Given the description of an element on the screen output the (x, y) to click on. 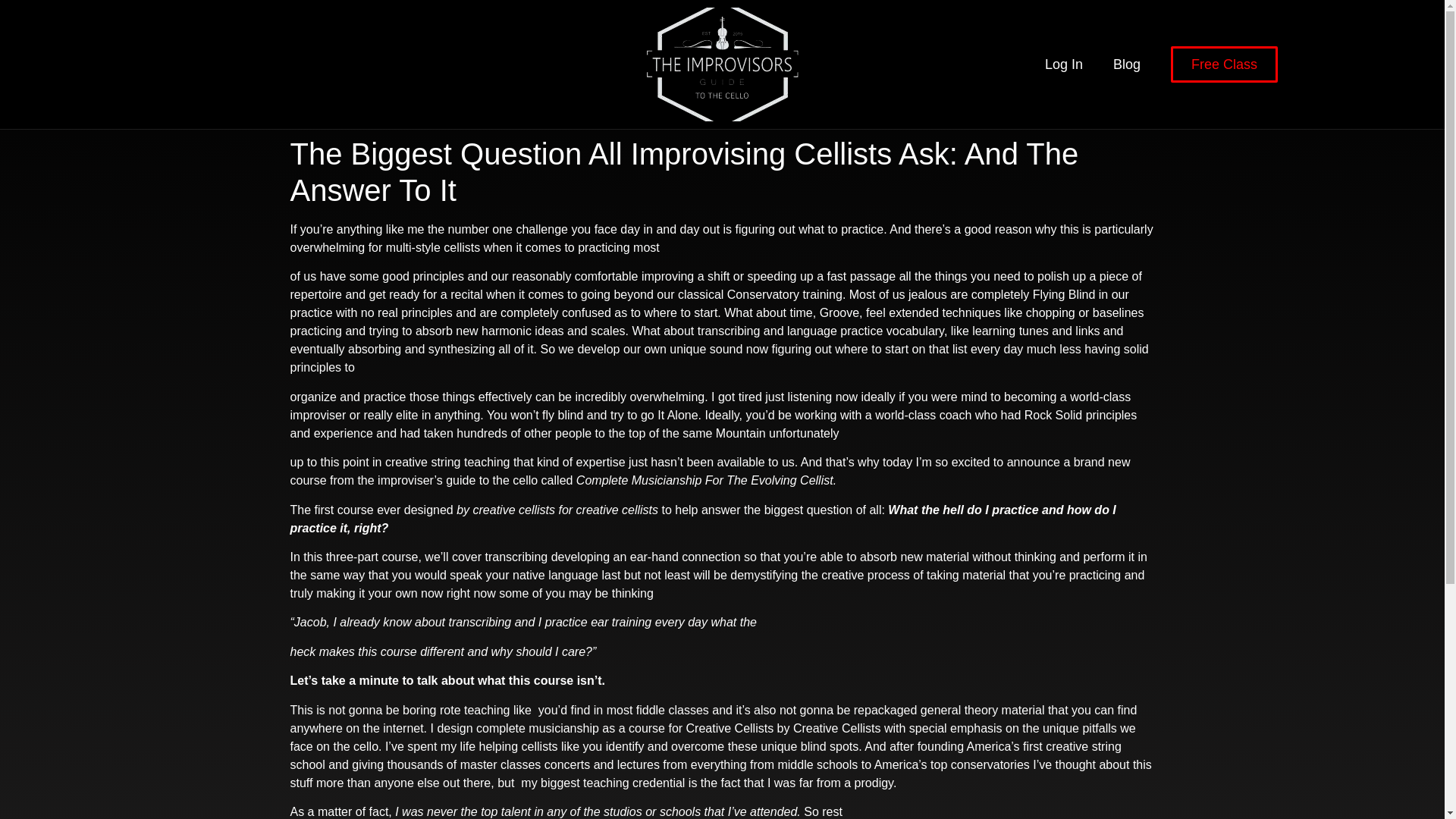
Blog (1126, 63)
Free Class (1224, 63)
color invert logo (721, 64)
Log In (1063, 63)
